Given the description of an element on the screen output the (x, y) to click on. 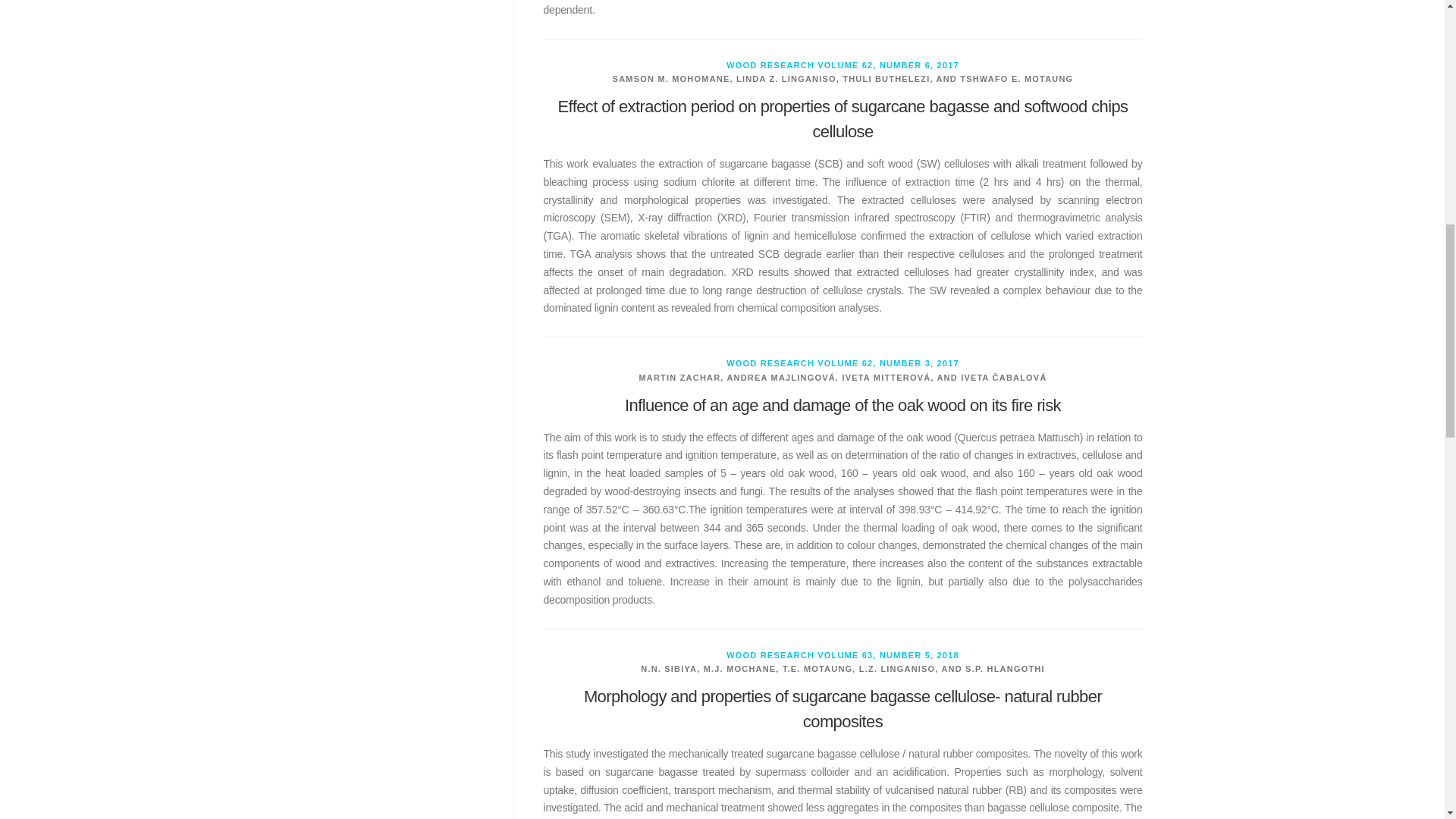
WOOD RESEARCH VOLUME 63, NUMBER 5, 2018 (842, 655)
WOOD RESEARCH VOLUME 62, NUMBER 6, 2017 (842, 64)
WOOD RESEARCH VOLUME 62, NUMBER 3, 2017 (842, 362)
